Given the description of an element on the screen output the (x, y) to click on. 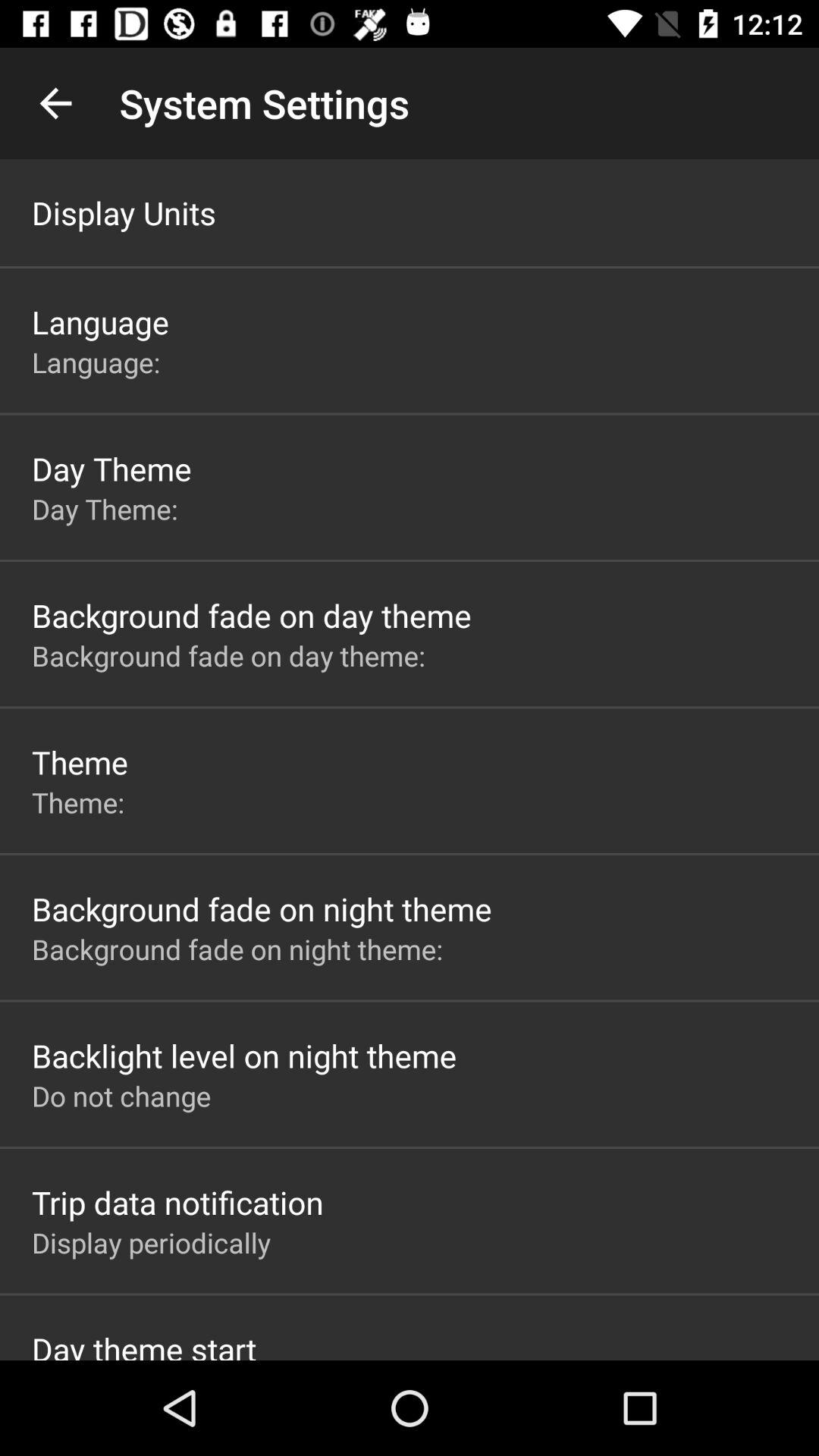
launch language:  item (99, 362)
